Given the description of an element on the screen output the (x, y) to click on. 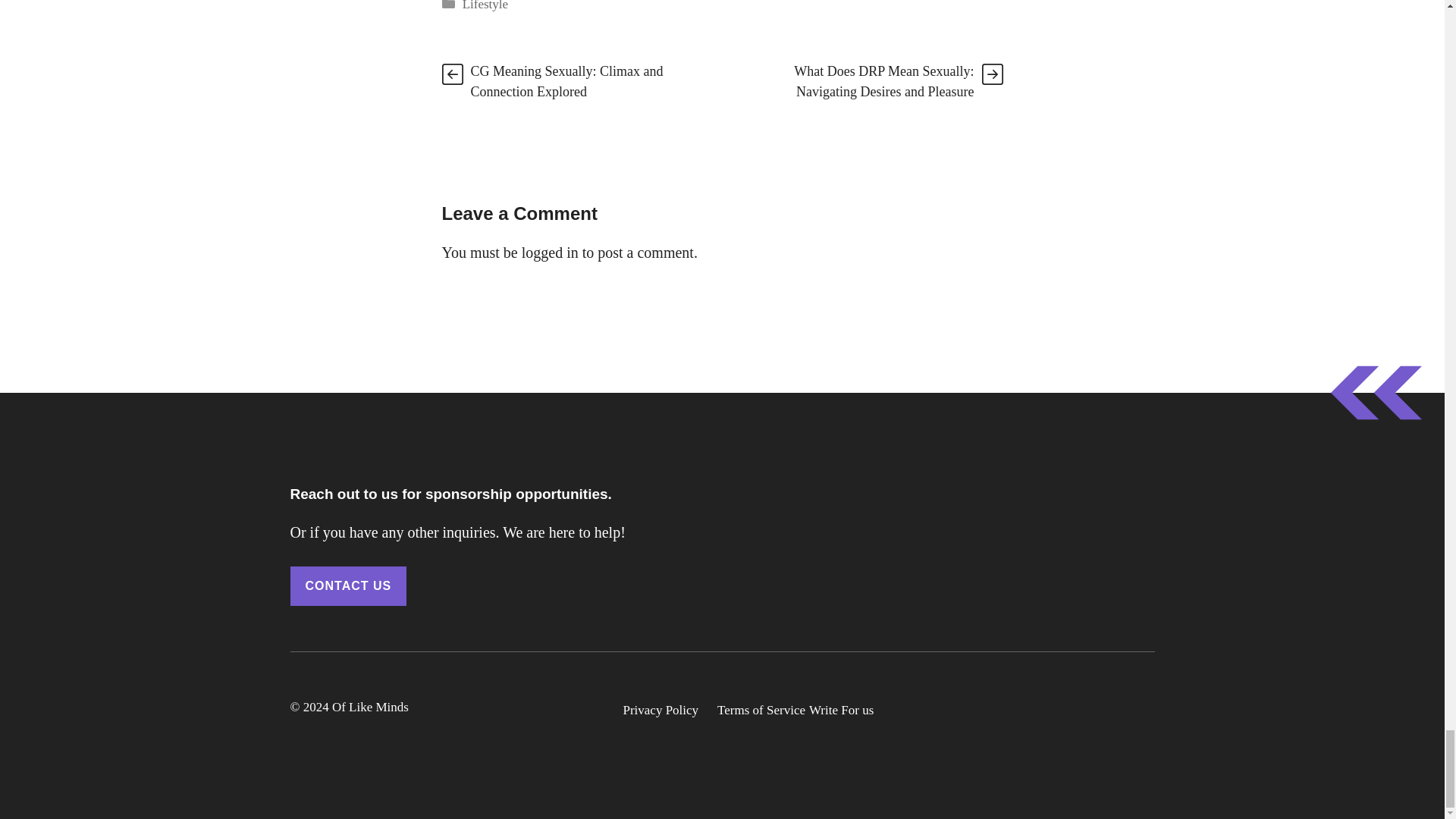
CG Meaning Sexually: Climax and Connection Explored (566, 81)
Lifestyle (485, 5)
What Does DRP Mean Sexually: Navigating Desires and Pleasure (883, 81)
logged in (549, 252)
